Given the description of an element on the screen output the (x, y) to click on. 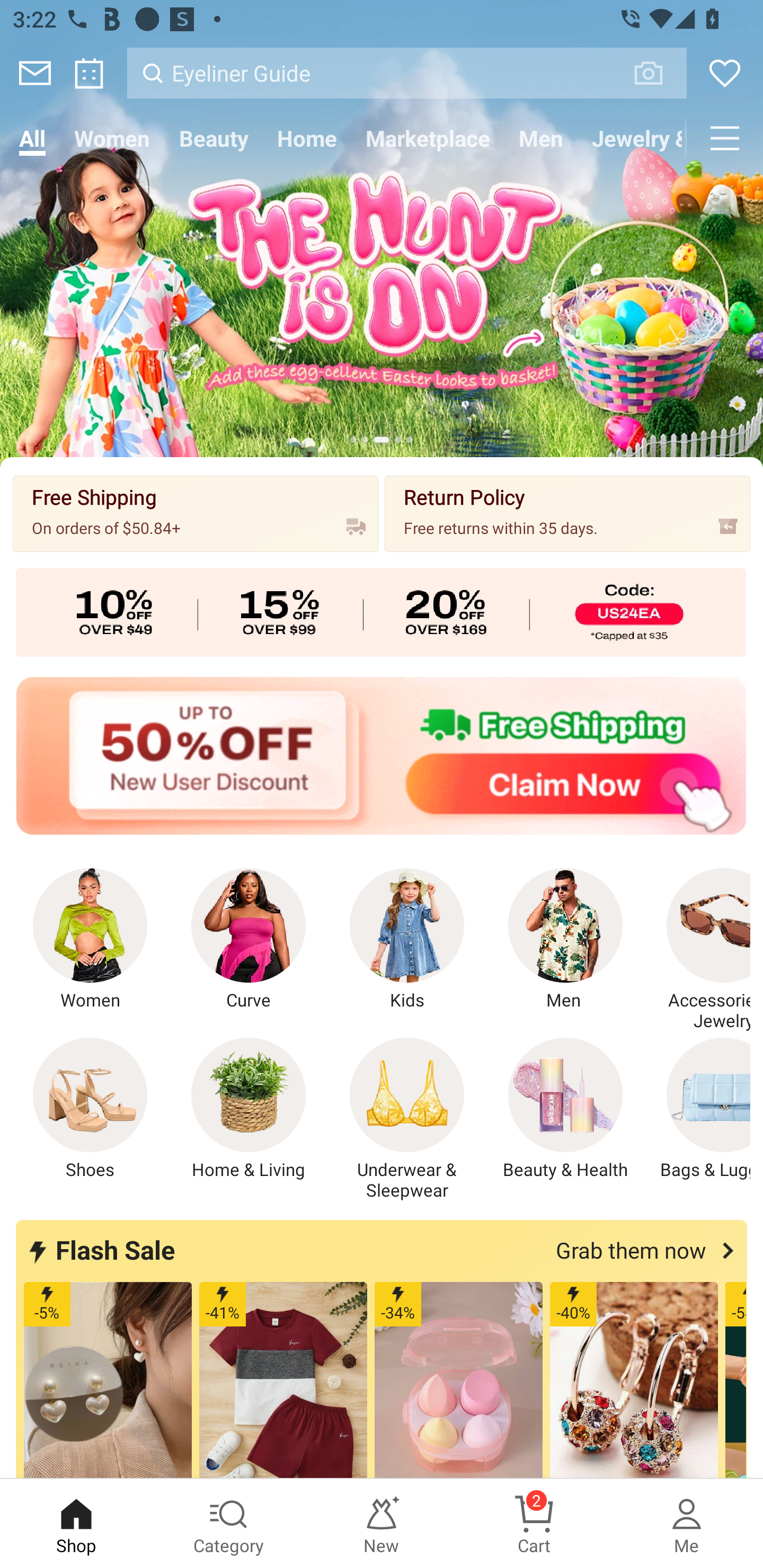
Wishlist (724, 72)
VISUAL SEARCH (657, 72)
All (31, 137)
Women (111, 137)
Beauty (213, 137)
Home (306, 137)
Marketplace (427, 137)
Men (540, 137)
Jewelry & Accs (631, 137)
Free Shipping On orders of $50.84+ (195, 513)
Return Policy Free returns within 35 days. (567, 513)
Women (89, 939)
Curve (248, 939)
Kids (406, 939)
Men  (565, 939)
Accessories & Jewelry (698, 949)
Shoes (89, 1109)
Home & Living (248, 1109)
Underwear & Sleepwear (406, 1119)
Beauty & Health (565, 1109)
Bags & Luggage (698, 1109)
Category (228, 1523)
New (381, 1523)
Cart 2 Cart (533, 1523)
Me (686, 1523)
